Given the description of an element on the screen output the (x, y) to click on. 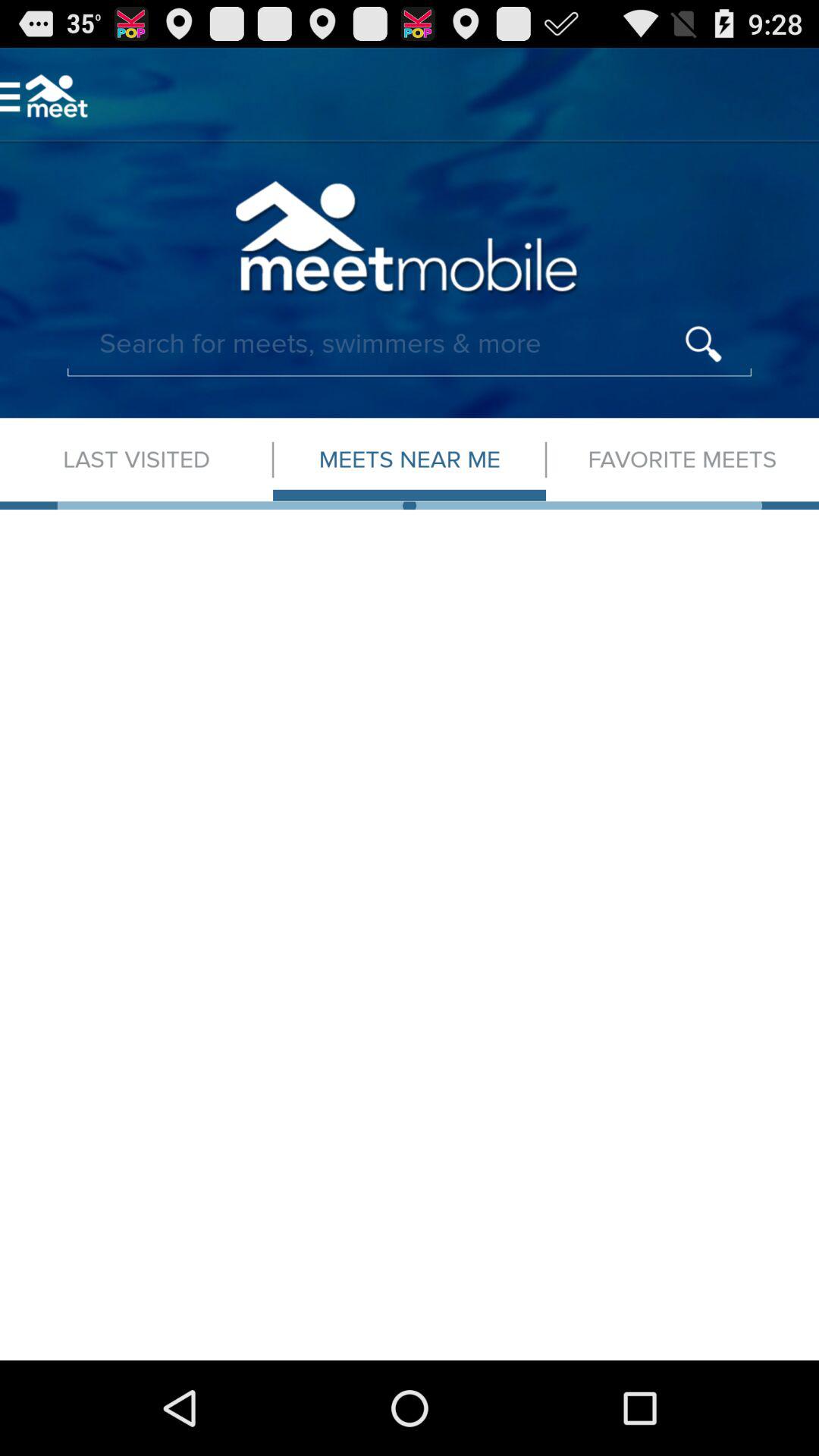
search input box (409, 344)
